Given the description of an element on the screen output the (x, y) to click on. 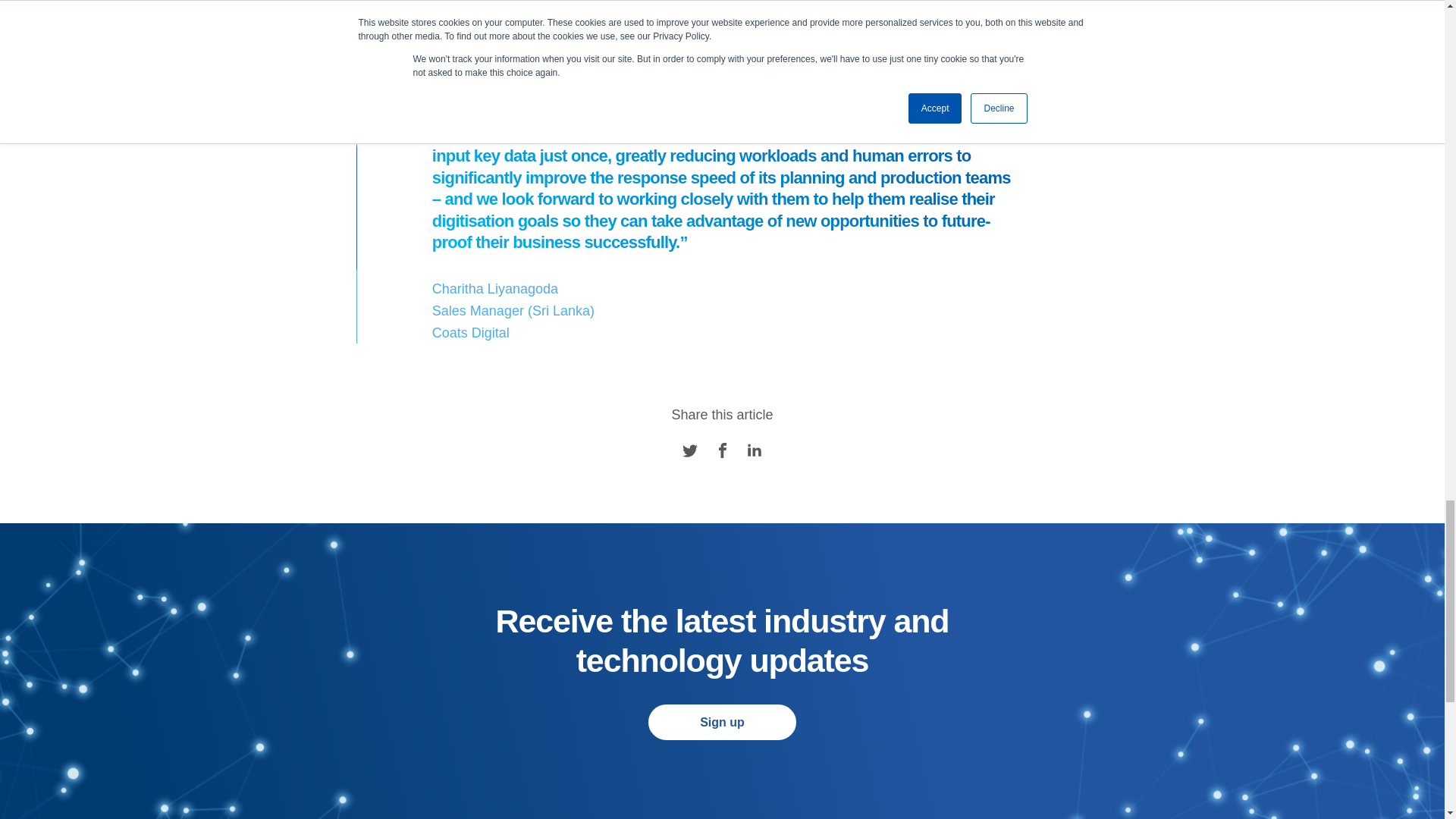
LinkedIn (754, 450)
Facebook (721, 450)
Twitter (689, 450)
